Given the description of an element on the screen output the (x, y) to click on. 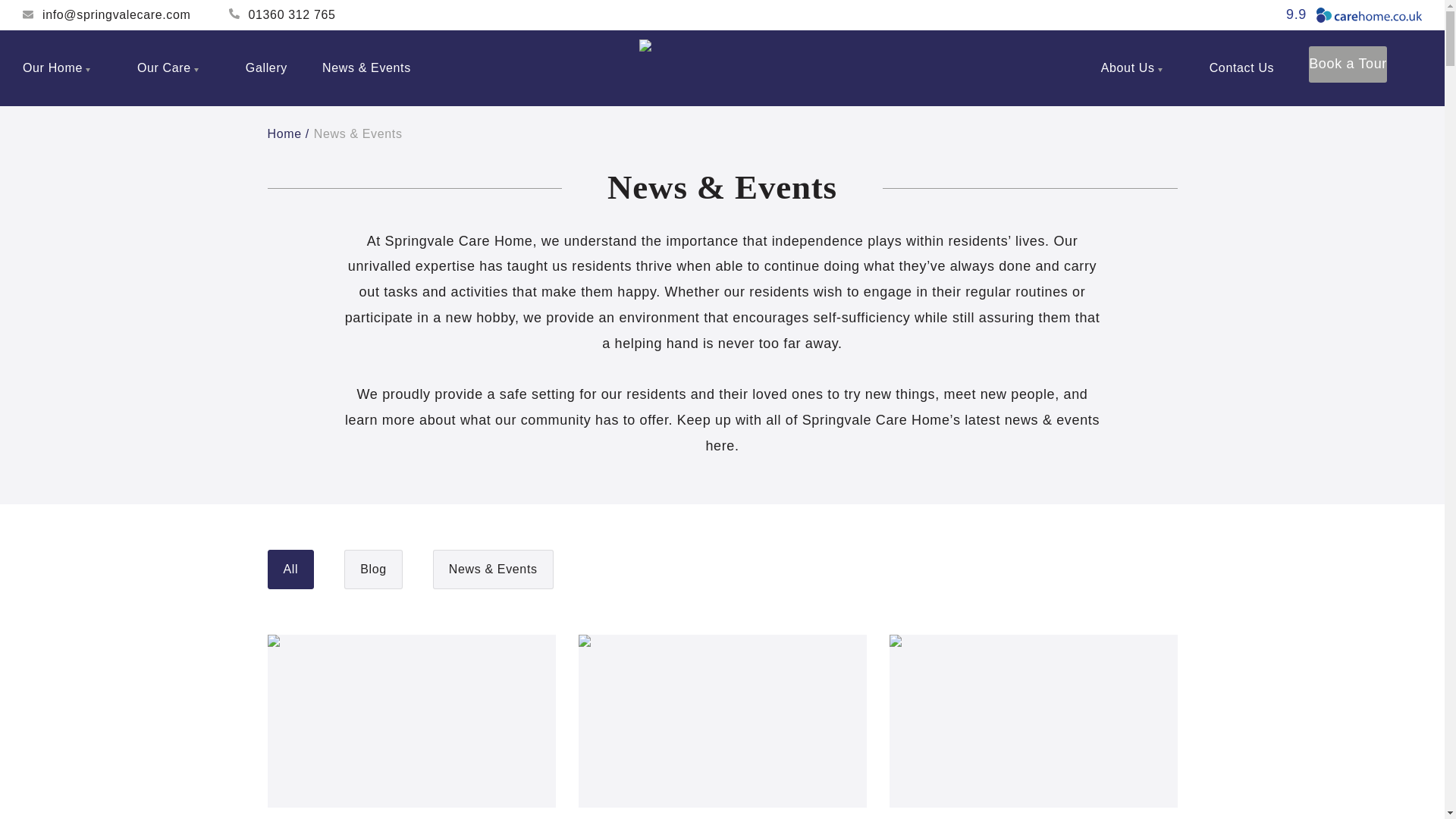
Book a Tour (1347, 63)
01360 312 765 (282, 15)
Our Home (62, 68)
9.9 (1353, 14)
Our Care (173, 68)
Contact Us (1242, 68)
Gallery (266, 68)
About Us (1137, 68)
